Given the description of an element on the screen output the (x, y) to click on. 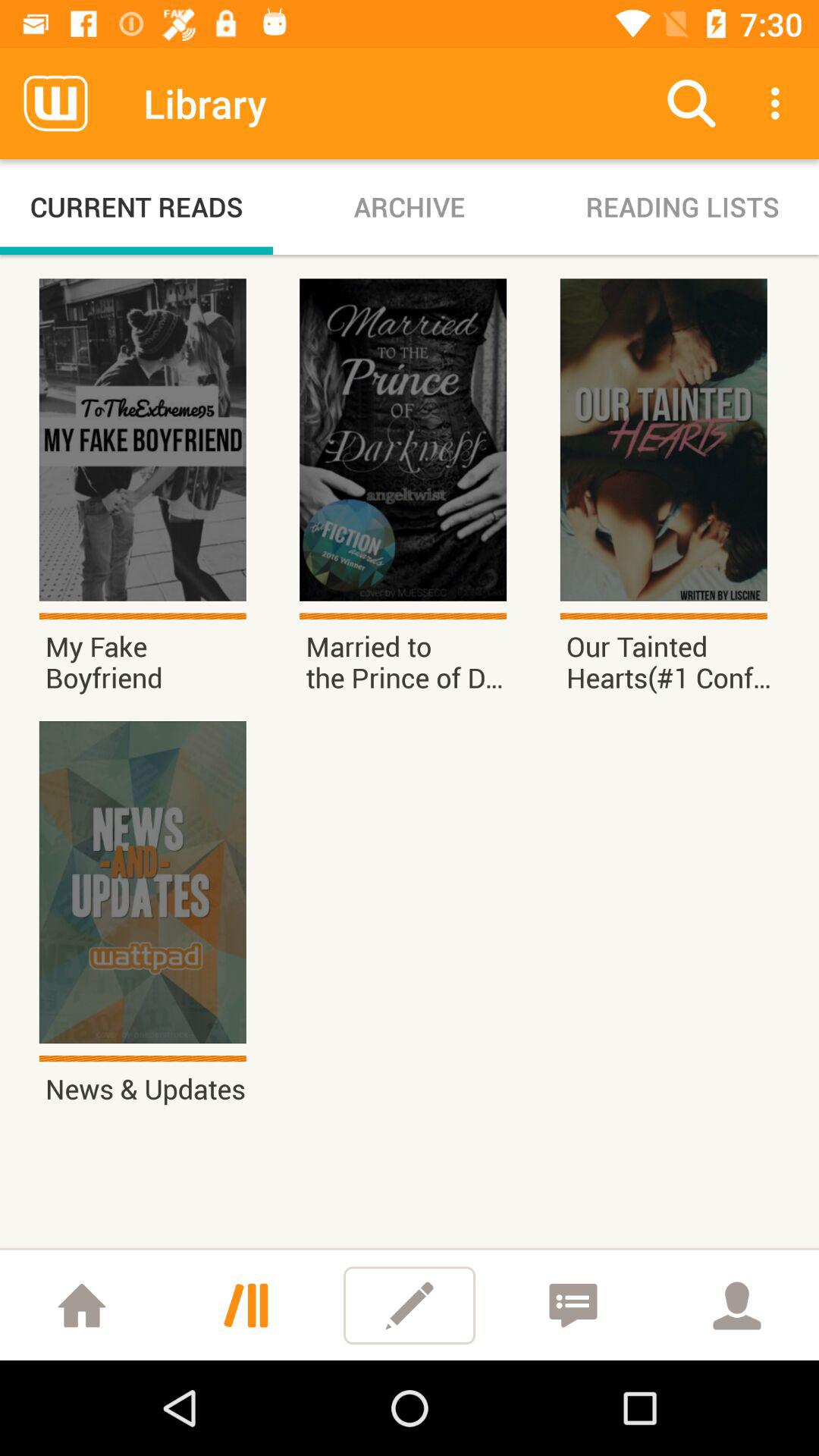
choose the item next to the archive (682, 206)
